Given the description of an element on the screen output the (x, y) to click on. 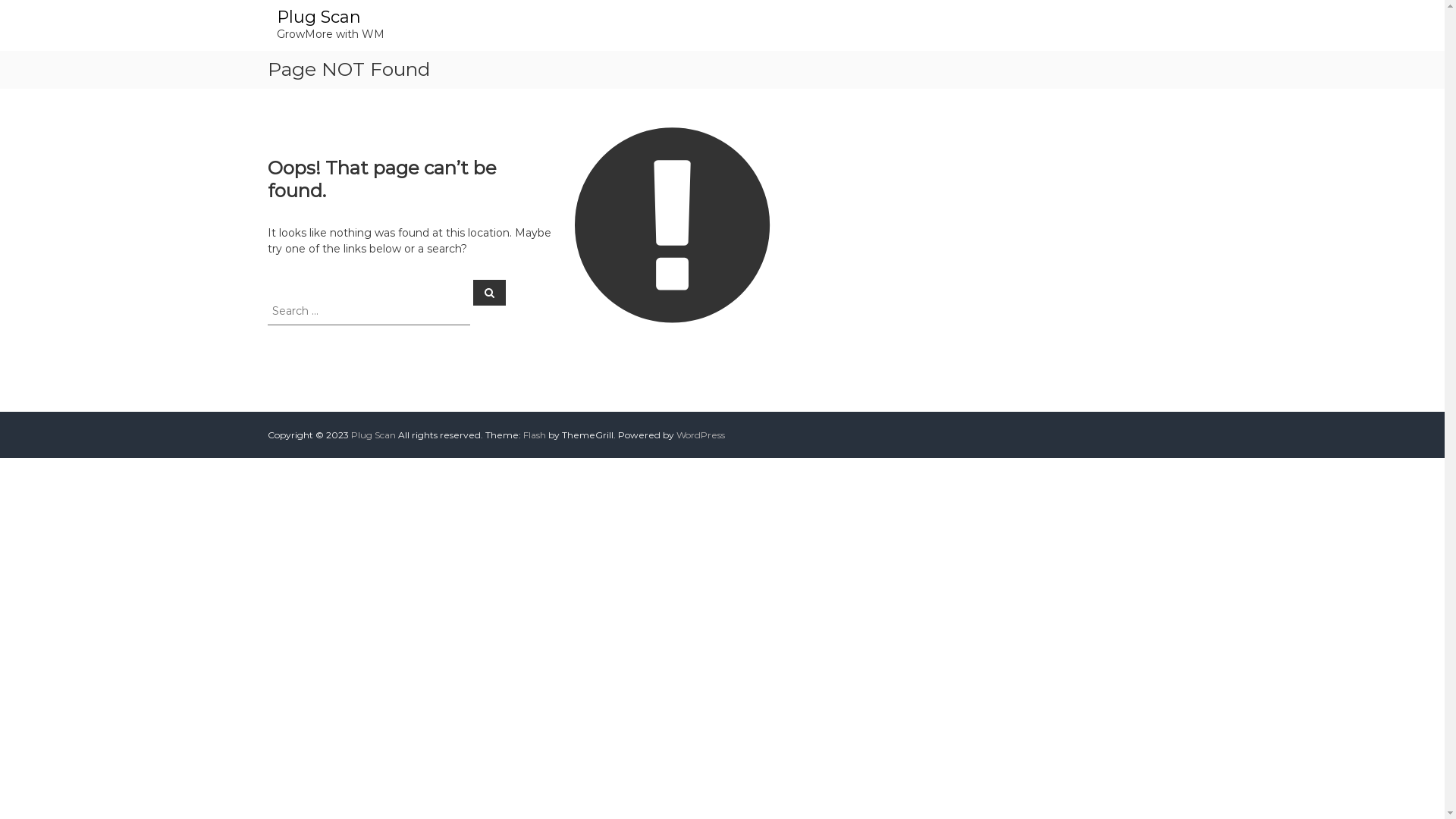
WordPress Element type: text (700, 434)
Plug Scan Element type: text (372, 434)
Flash Element type: text (534, 434)
Plug Scan Element type: text (318, 16)
Search Element type: text (489, 291)
